Given the description of an element on the screen output the (x, y) to click on. 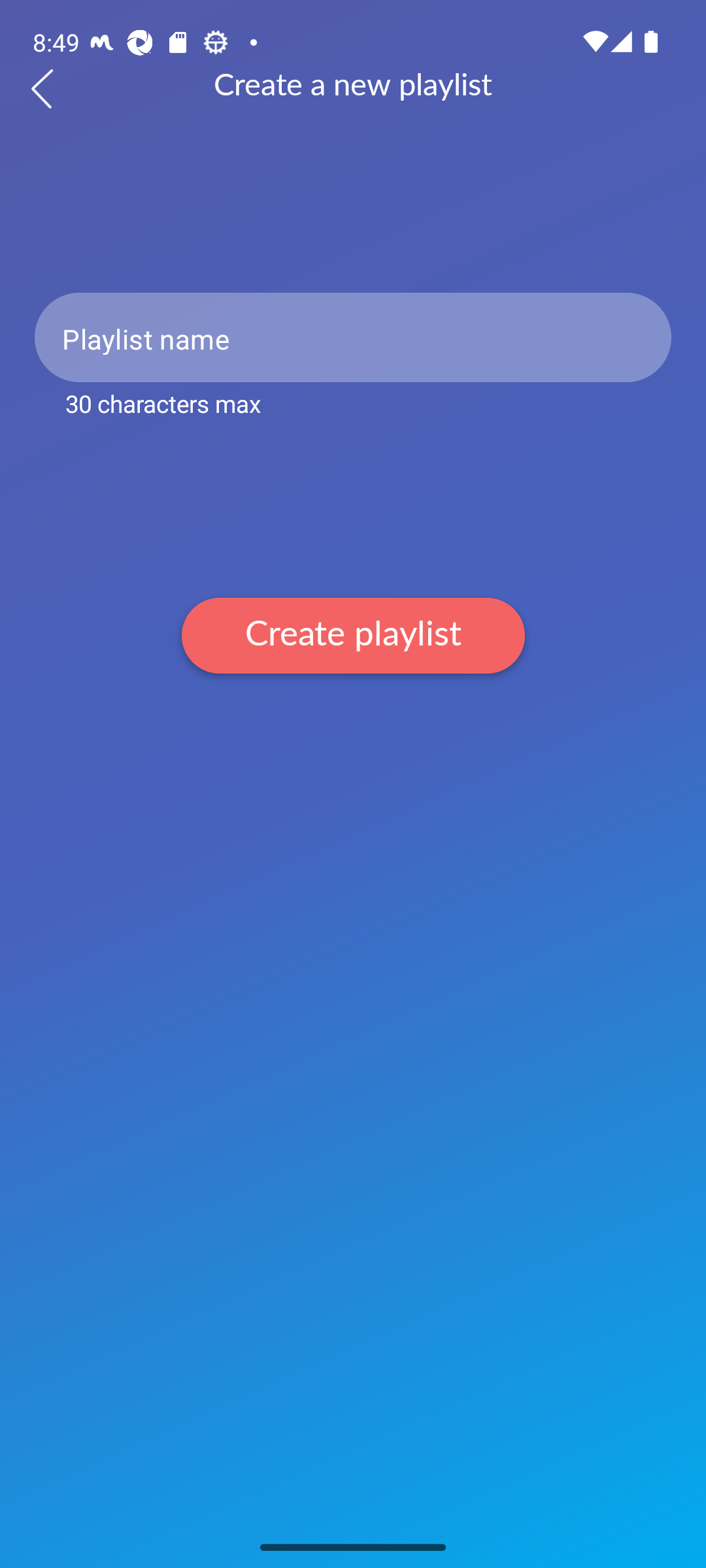
Playlist name (352, 337)
Create playlist (353, 634)
